Given the description of an element on the screen output the (x, y) to click on. 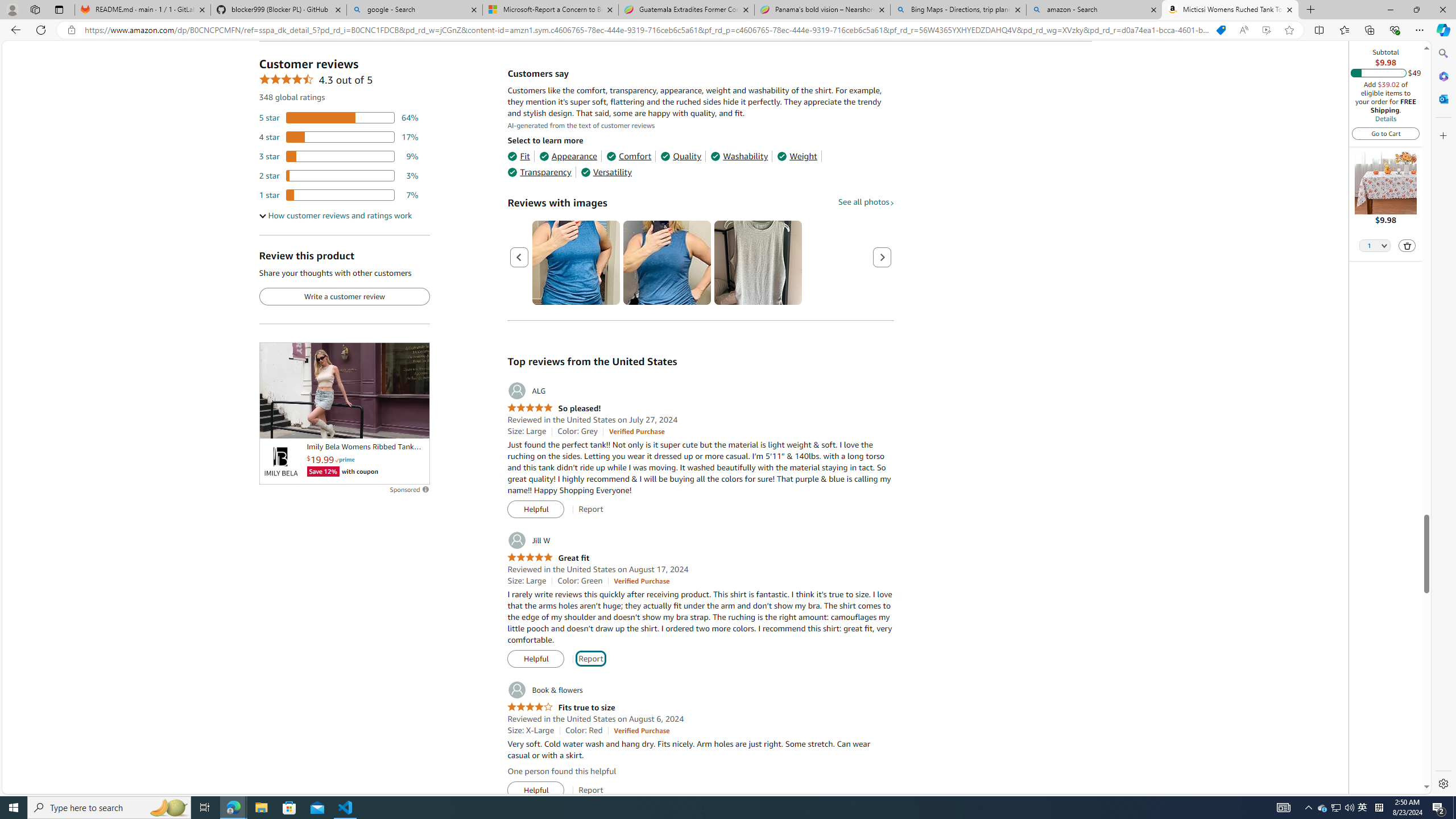
Pause (273, 424)
Next page (882, 256)
Comfort (628, 156)
Book & flowers (544, 690)
4.0 out of 5 stars Fits true to size (560, 707)
Address and search bar (647, 29)
Enhance video (1266, 29)
ALG (526, 390)
How customer reviews and ratings work (335, 215)
See all photos (865, 201)
Logo (280, 461)
